Given the description of an element on the screen output the (x, y) to click on. 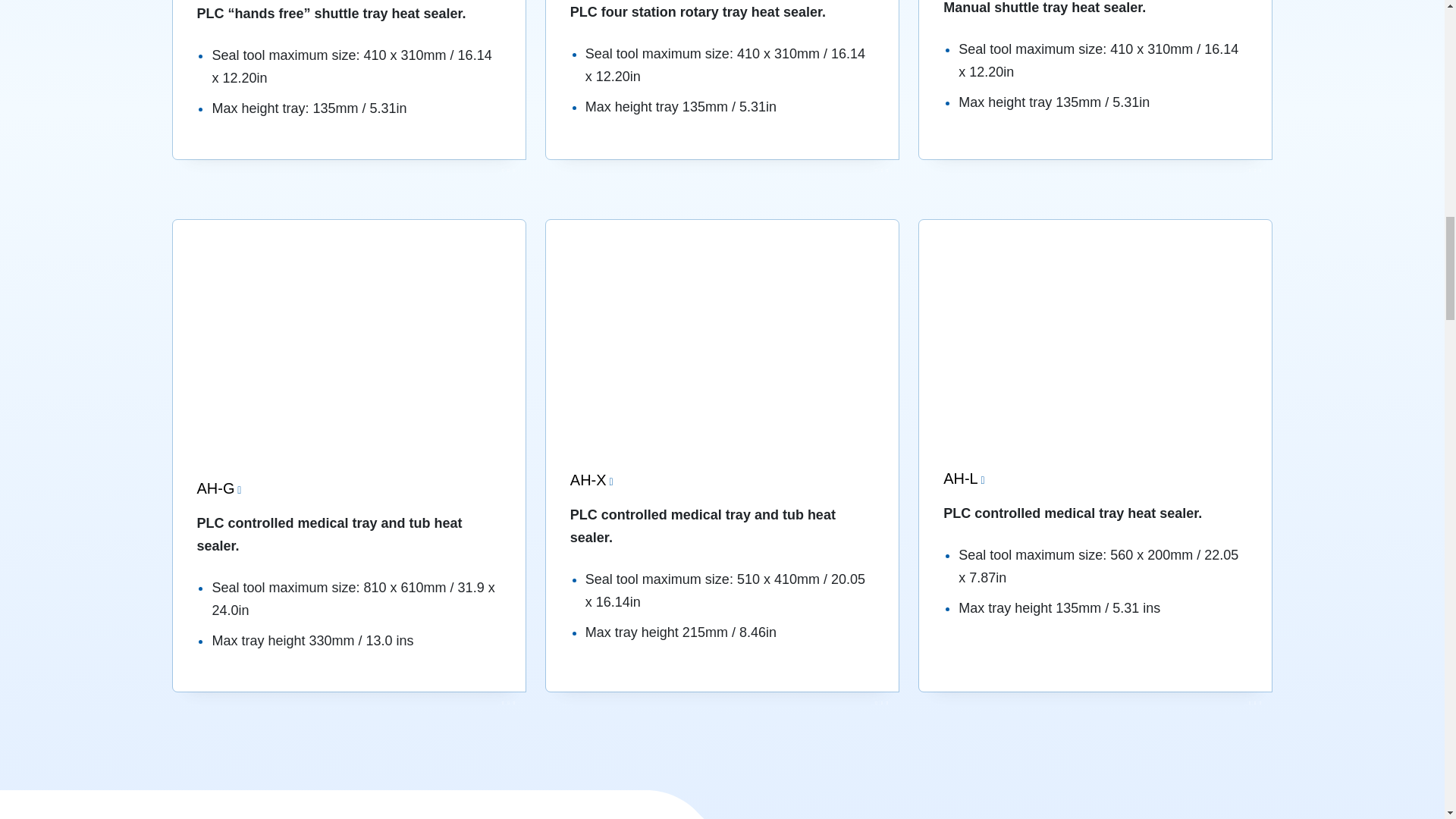
NX-B Rotary Tray Heat Sealer (722, 79)
SH-BT1 (1094, 79)
NX-T1 Tray Sealer (349, 79)
